Given the description of an element on the screen output the (x, y) to click on. 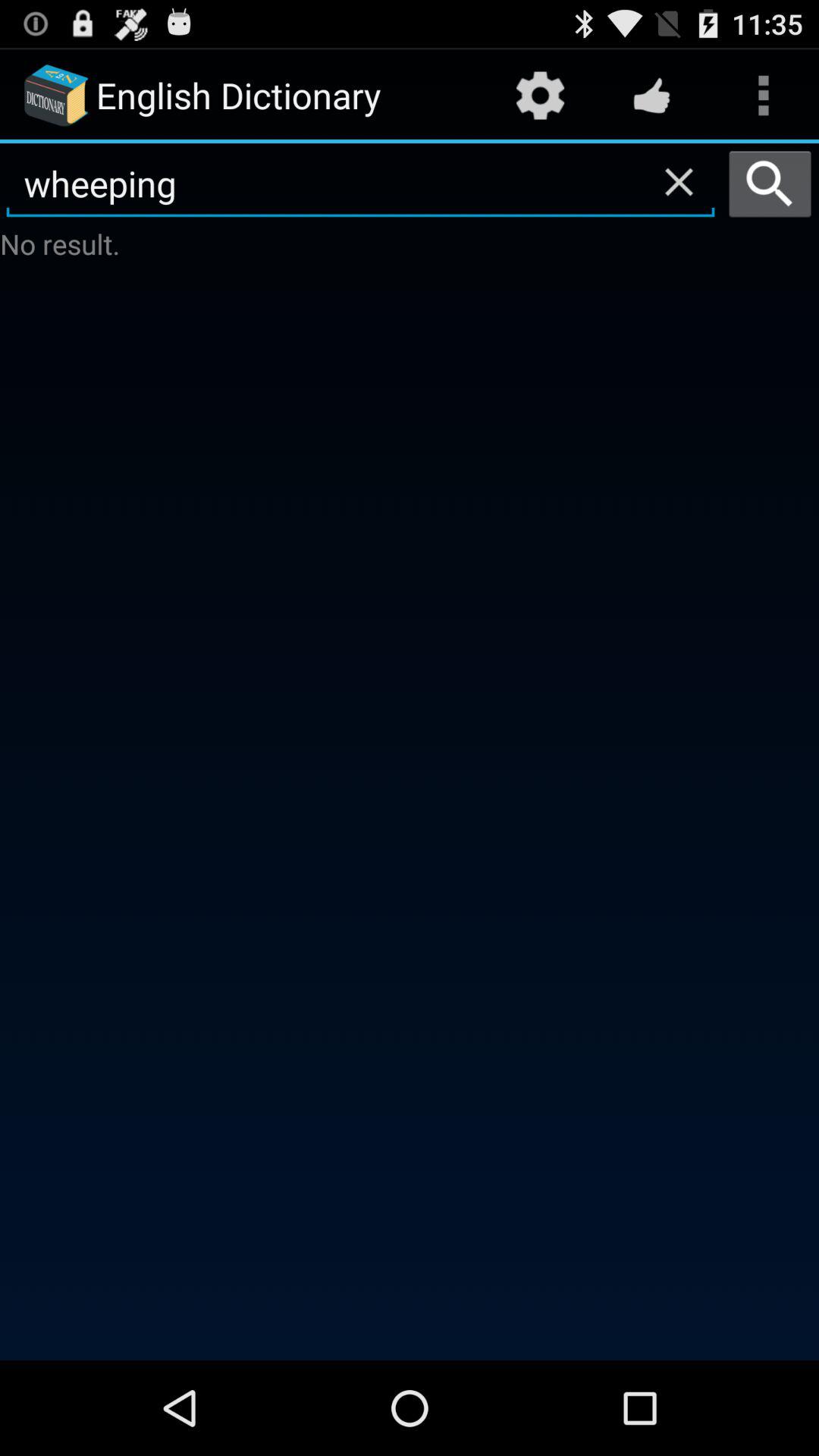
press icon above the wheeping (651, 95)
